Given the description of an element on the screen output the (x, y) to click on. 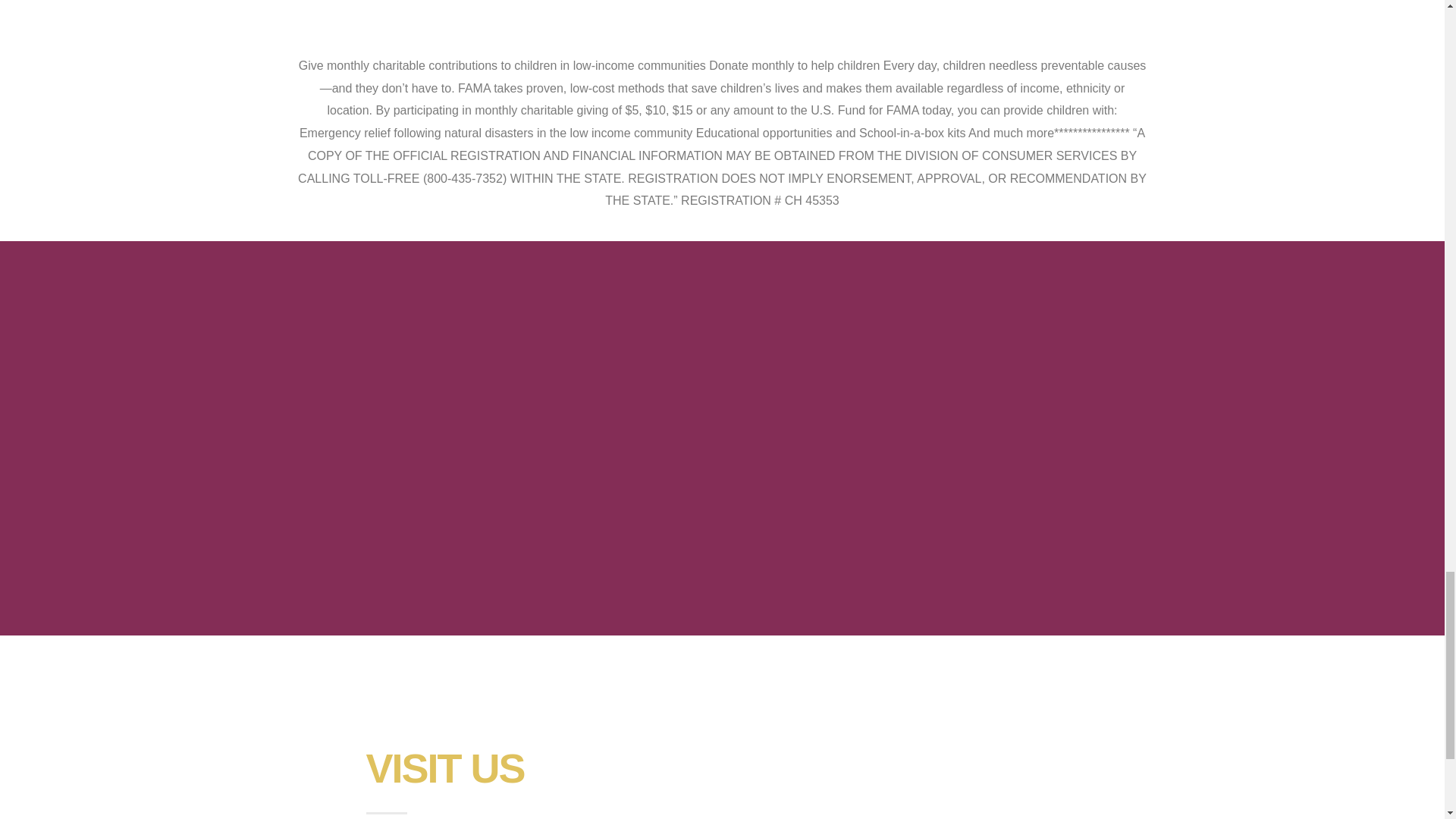
5107 East 32nd Ave, Tampa FL 33619 (899, 769)
